Given the description of an element on the screen output the (x, y) to click on. 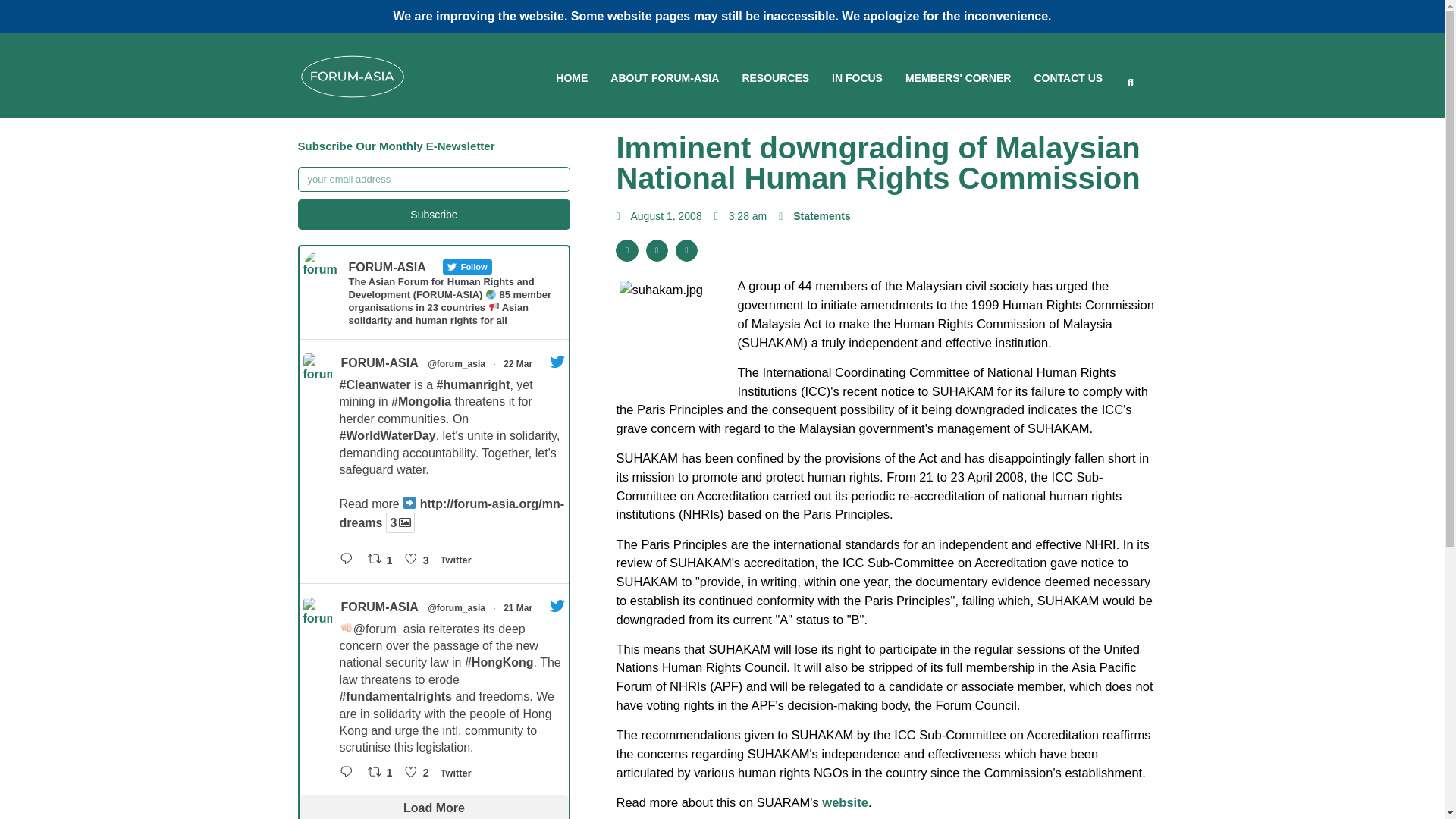
RESOURCES (774, 78)
ABOUT FORUM-ASIA (664, 78)
suhakam.jpg (676, 337)
CONTACT US (1067, 78)
MEMBERS' CORNER (957, 78)
IN FOCUS (856, 78)
HOME (571, 78)
